Given the description of an element on the screen output the (x, y) to click on. 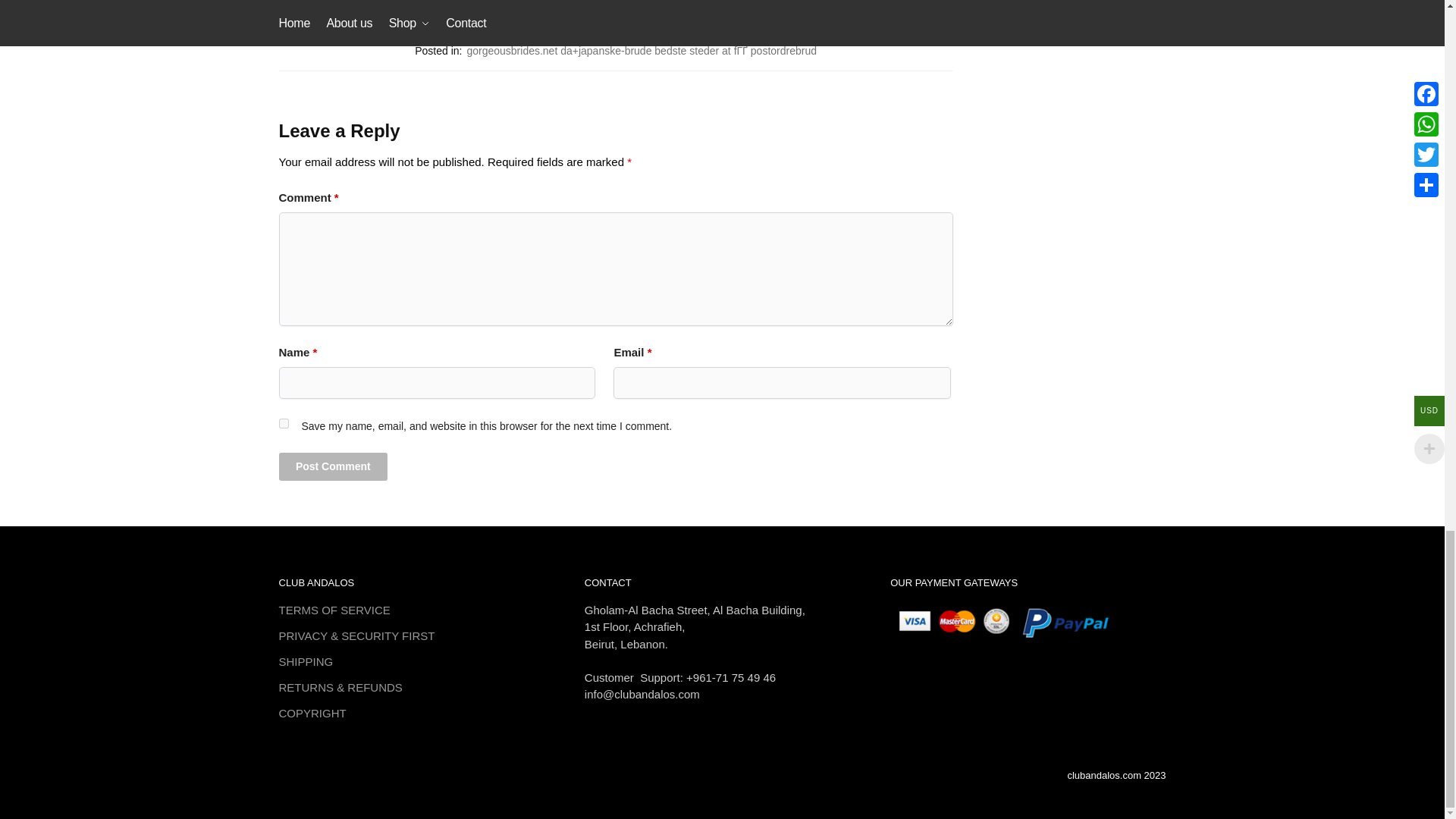
SHIPPING (306, 661)
Post Comment (333, 466)
yes (283, 423)
COPYRIGHT (312, 713)
Post Comment (333, 466)
TERMS OF SERVICE (334, 610)
